Given the description of an element on the screen output the (x, y) to click on. 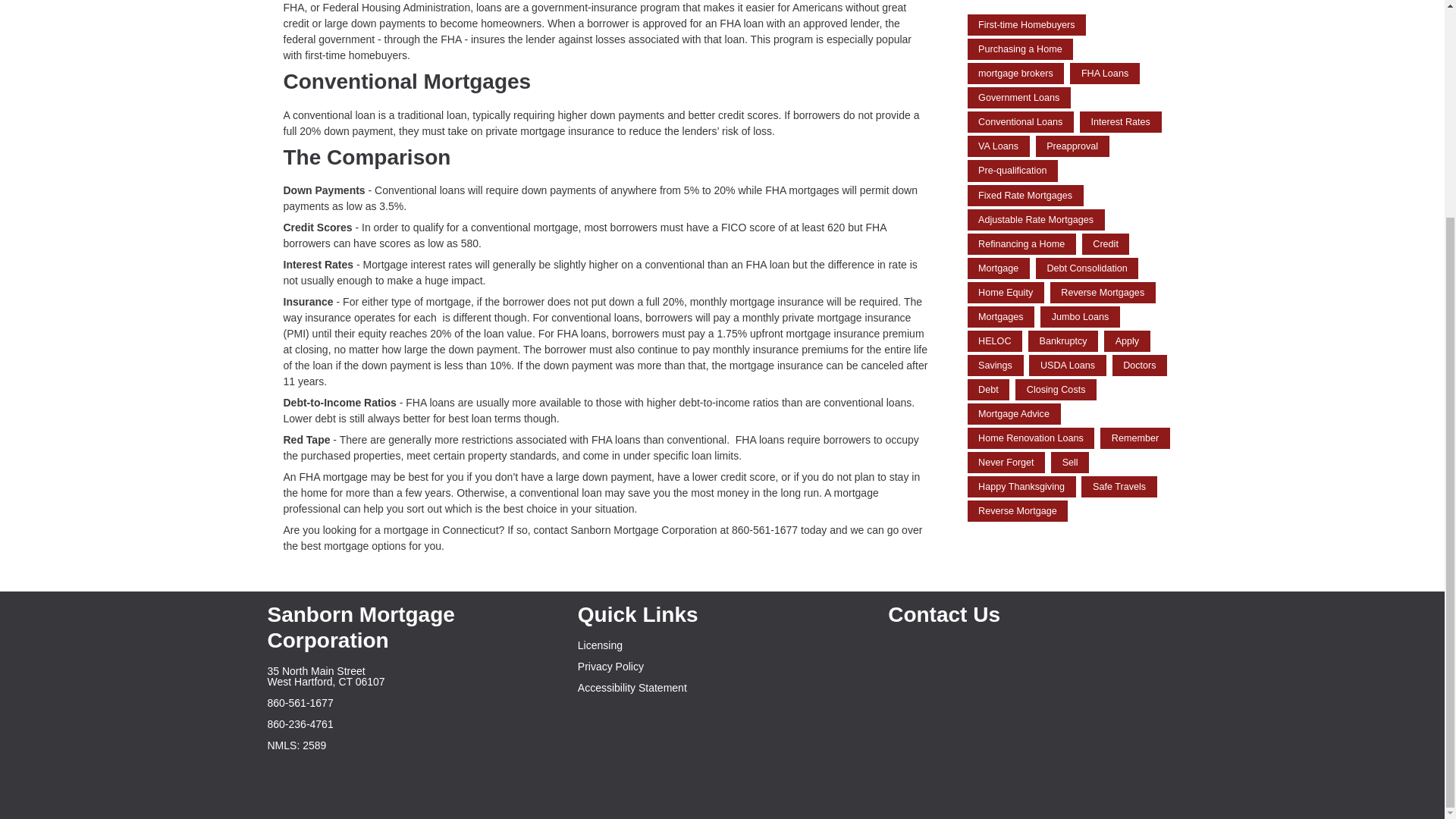
Preapproval (1072, 146)
Home Equity (1005, 292)
Mortgage (998, 268)
Interest Rates (1120, 121)
Reverse Mortgages (1102, 292)
Mortgages (1001, 316)
Government Loans (1019, 97)
Pre-qualification (1013, 169)
Purchasing a Home (1021, 48)
mortgage brokers (1016, 73)
First-time Homebuyers (1027, 25)
Adjustable Rate Mortgages (1036, 219)
Conventional Loans (1021, 121)
Debt Consolidation (1086, 268)
Refinancing a Home (1021, 243)
